Given the description of an element on the screen output the (x, y) to click on. 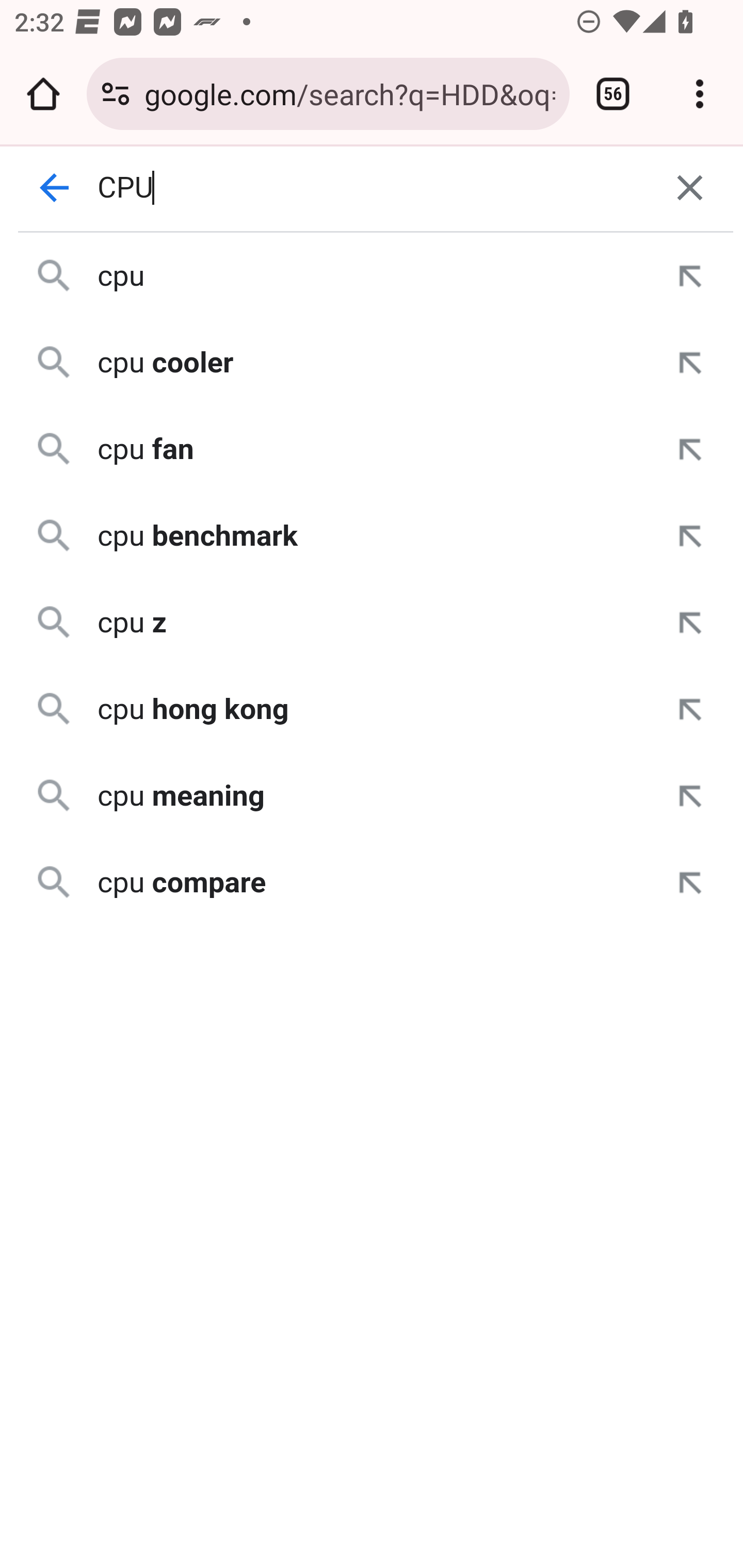
Open the home page (43, 93)
Connection is secure (115, 93)
Switch or close tabs (612, 93)
Customize and control Google Chrome (699, 93)
Back (54, 188)
Clear Search (690, 188)
CPU (372, 188)
